Given the description of an element on the screen output the (x, y) to click on. 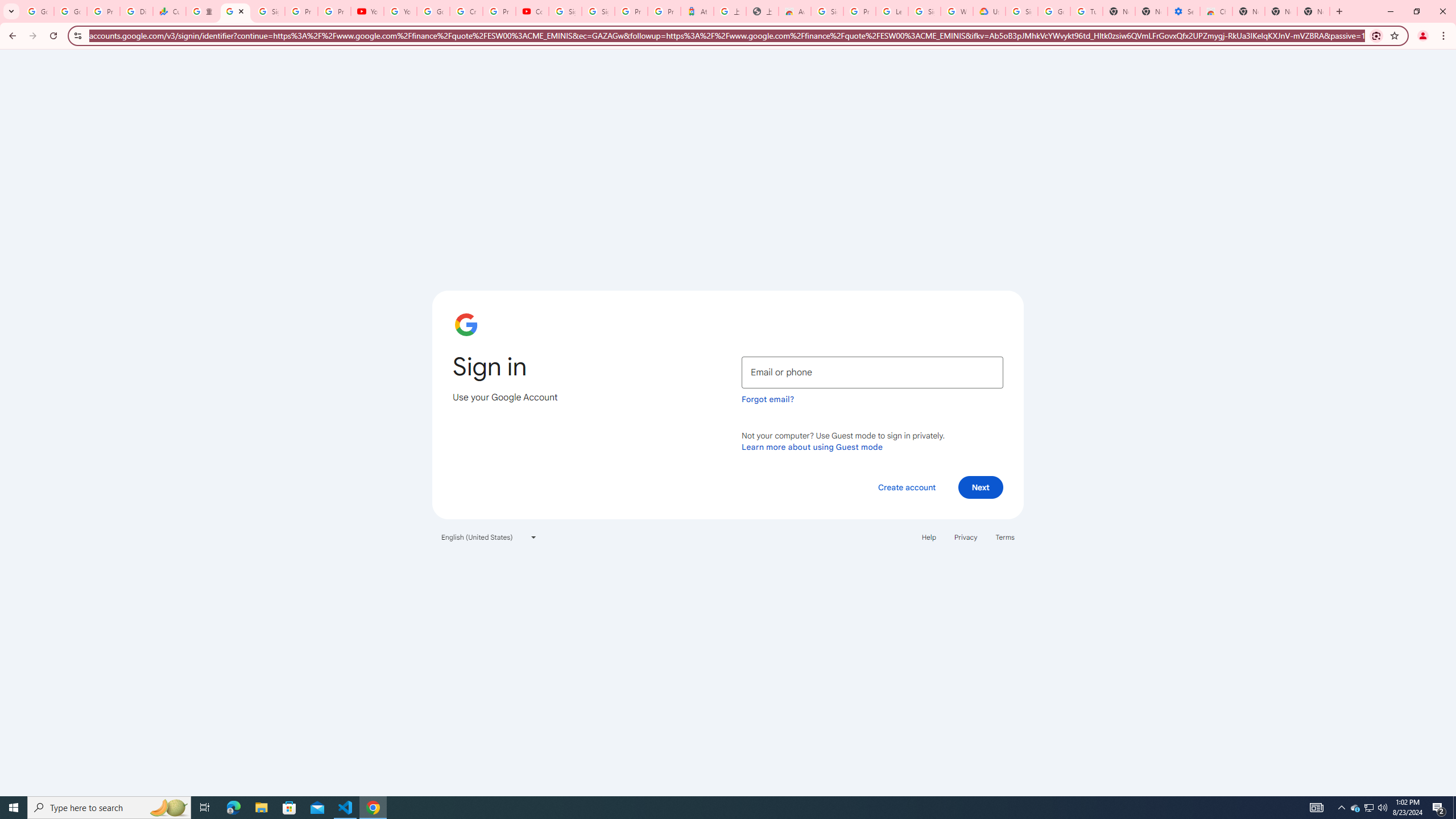
Sign in - Google Accounts (827, 11)
